Given the description of an element on the screen output the (x, y) to click on. 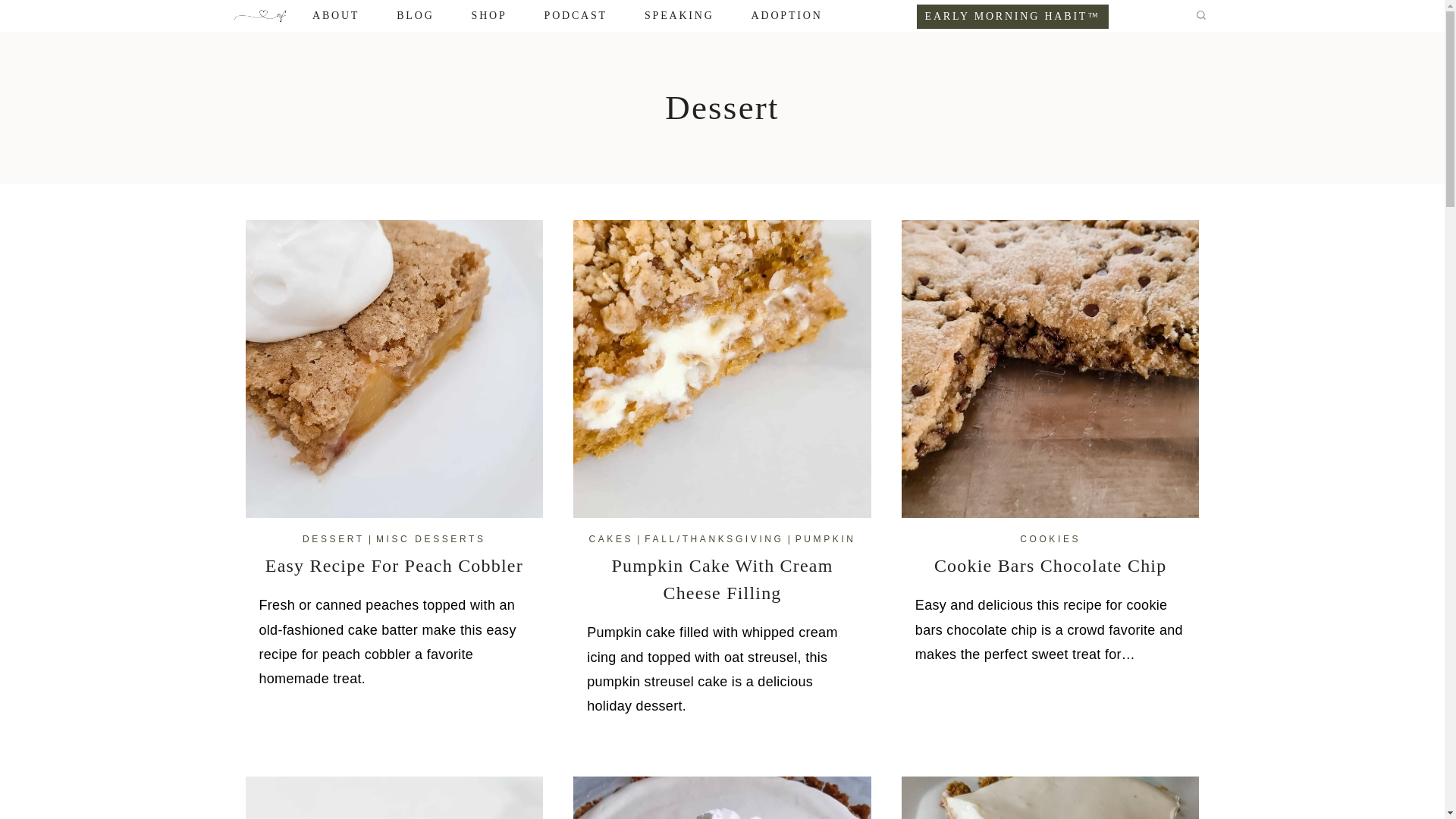
SPEAKING (679, 15)
BLOG (415, 15)
SHOP (488, 15)
Cookie Bars Chocolate Chip (1050, 565)
PODCAST (575, 15)
ADOPTION (786, 15)
Pumpkin Cake With Cream Cheese Filling (721, 579)
ABOUT (336, 15)
PUMPKIN (825, 538)
COOKIES (1050, 538)
